Given the description of an element on the screen output the (x, y) to click on. 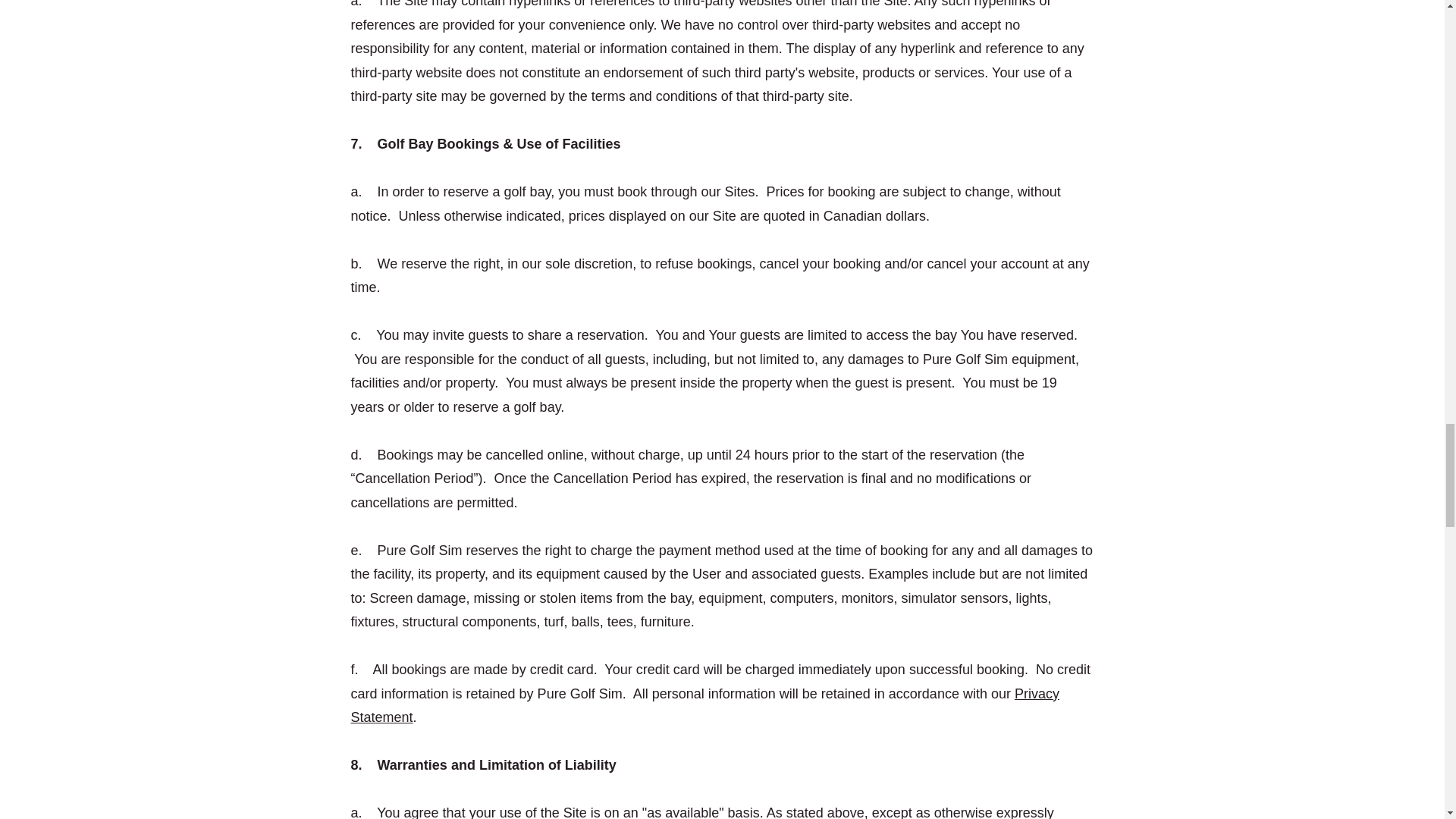
Privacy Statement (704, 704)
